Given the description of an element on the screen output the (x, y) to click on. 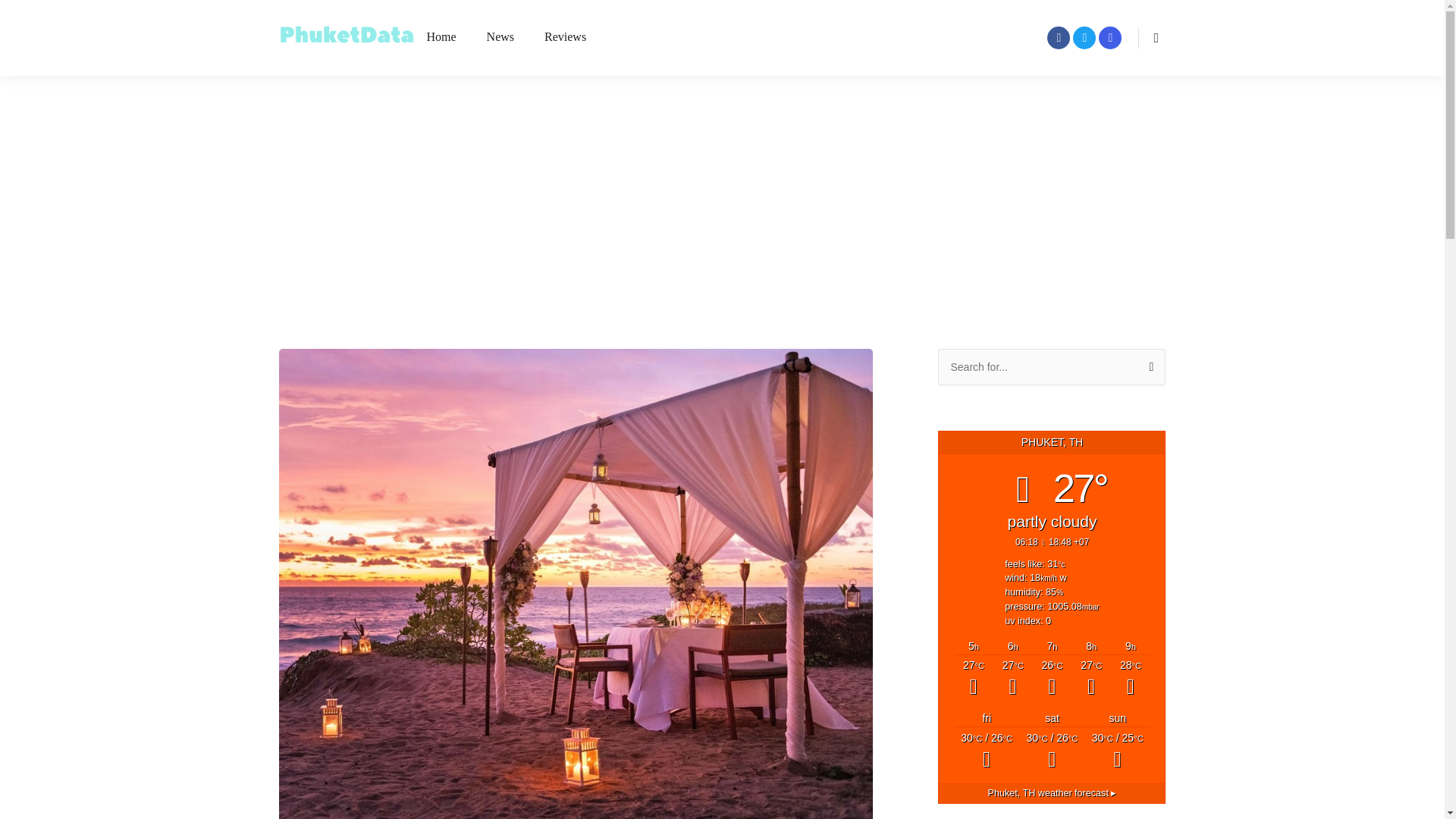
Scattered Thunderstorms (986, 751)
Thunderstorms (1117, 751)
Search for: (1051, 366)
Reviews (565, 37)
Phuket, TH - Weather forecast (1052, 792)
PhuketData on Twitter (1084, 37)
Cloudy (1130, 679)
Mostly Cloudy (972, 679)
Home (440, 37)
Scattered Thunderstorms (1051, 679)
PhuketData Pages on Facebook (1058, 37)
Cloudy (1090, 679)
PhuketData on Instagram (1110, 37)
News (499, 37)
Scattered Thunderstorms (1051, 751)
